Given the description of an element on the screen output the (x, y) to click on. 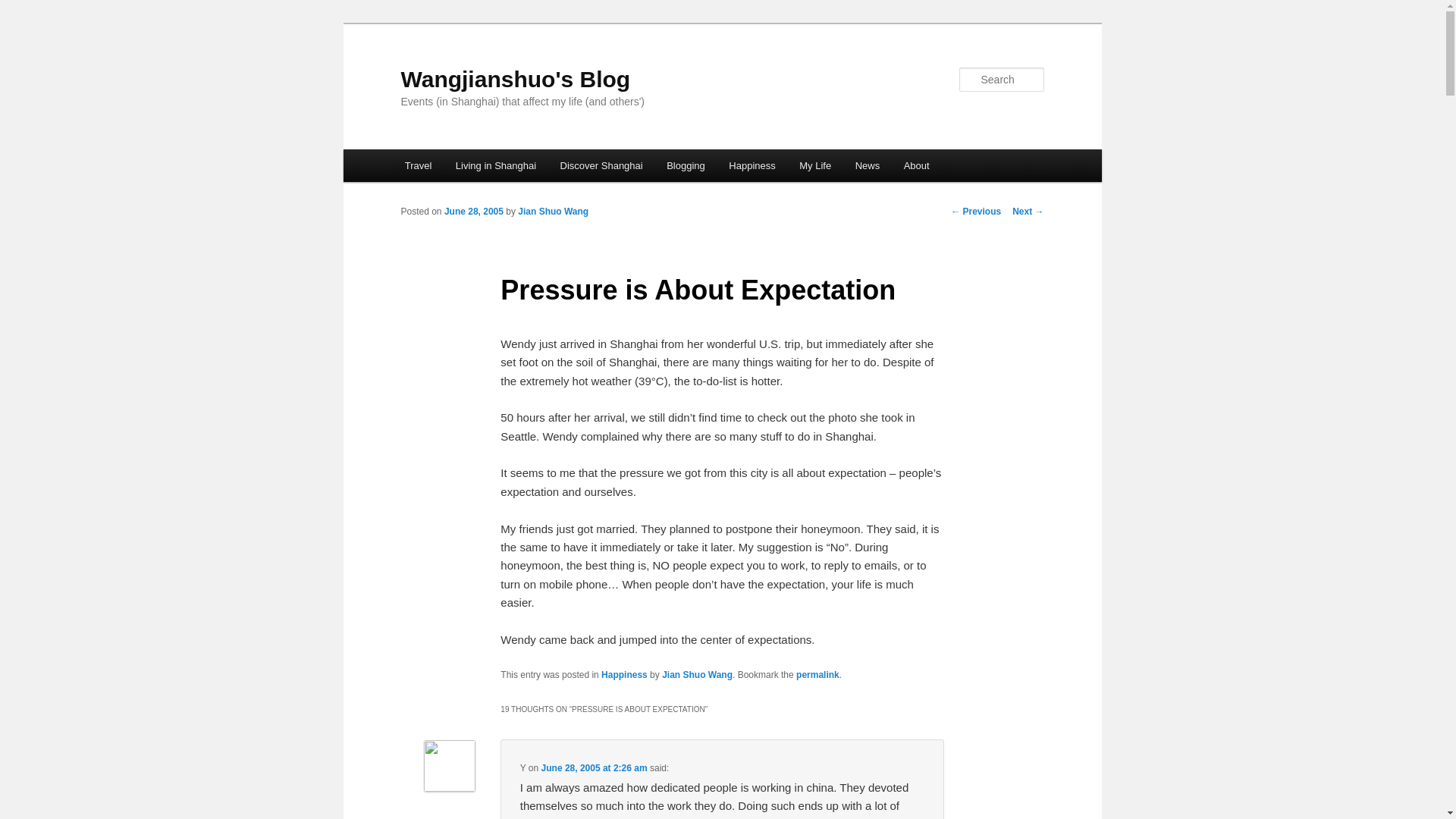
Travel (418, 165)
12:24 am (473, 211)
View all posts by Jian Shuo Wang (553, 211)
Wangjianshuo's Blog (515, 78)
Living in Shanghai (496, 165)
Search (24, 8)
Permalink to Pressure is About Expectation (818, 674)
